Given the description of an element on the screen output the (x, y) to click on. 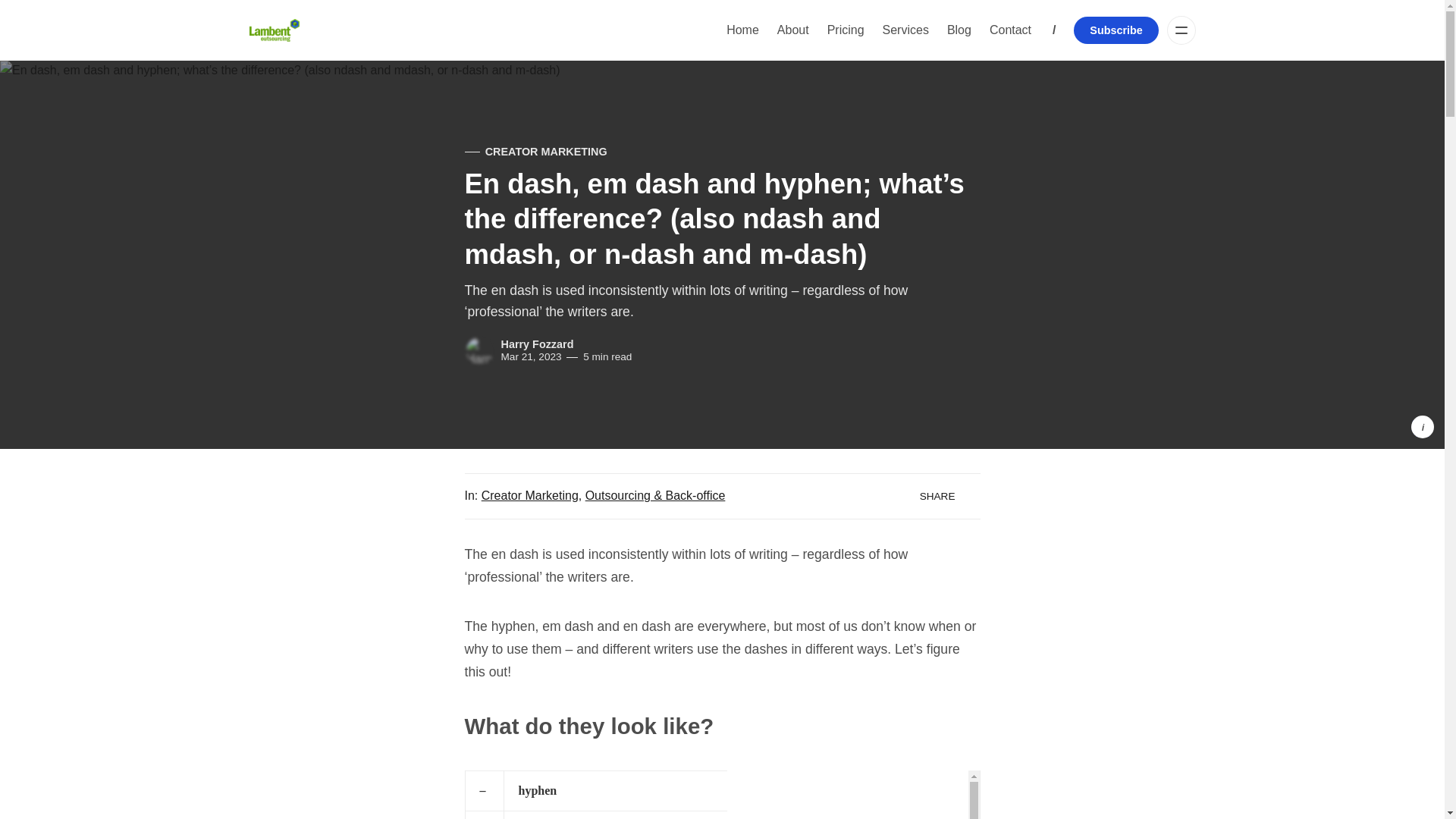
Subscribe (1116, 30)
Contact (1010, 29)
Home (742, 29)
Services (905, 29)
Harry Fozzard (536, 344)
Harry Fozzard (479, 350)
Blog (958, 29)
Menu (1181, 30)
SHARE (943, 496)
Pricing (845, 29)
